Given the description of an element on the screen output the (x, y) to click on. 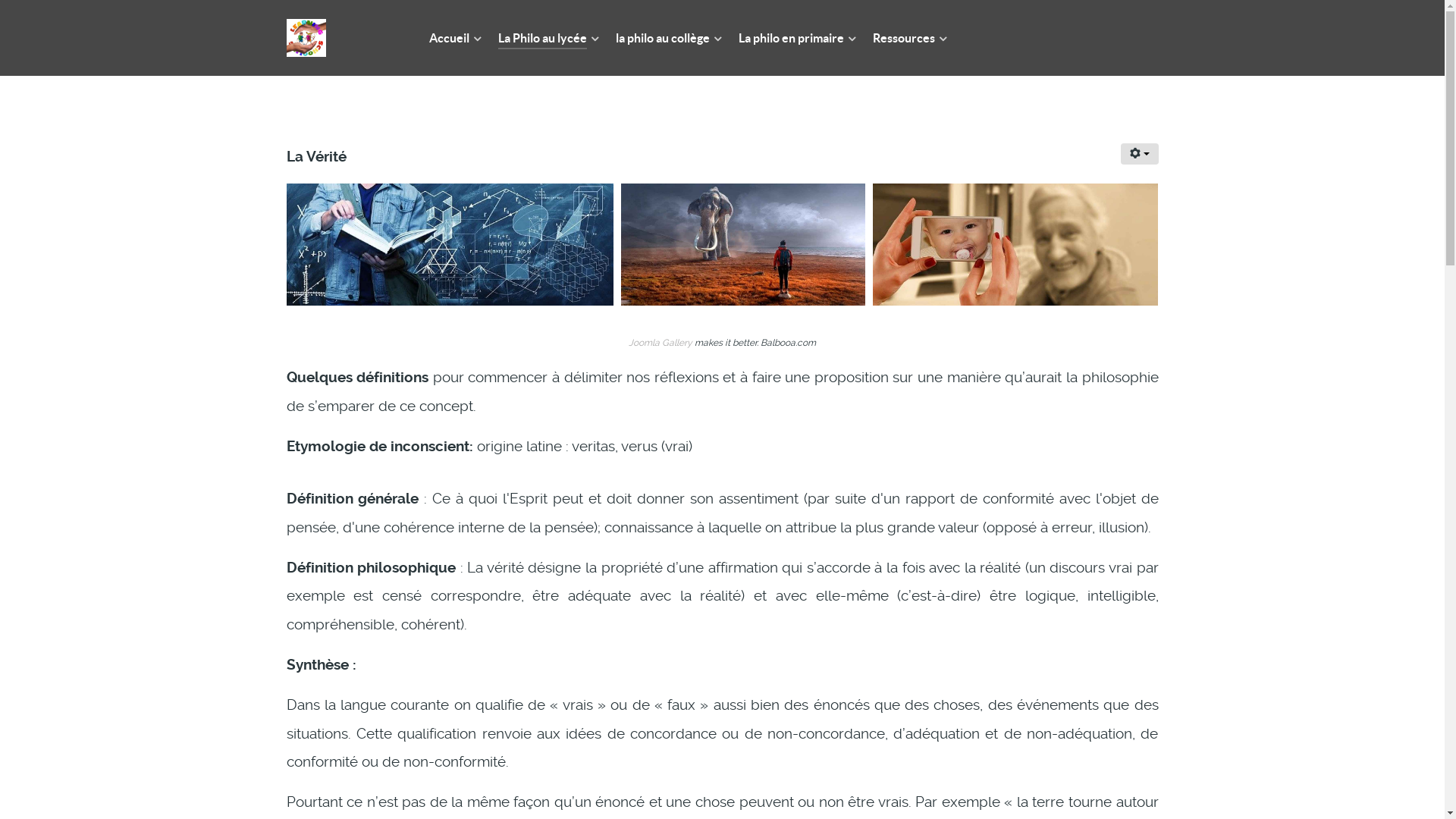
Ressources Element type: text (910, 39)
Accueil Element type: text (456, 39)
Joomla Gallery Element type: text (660, 342)
